Given the description of an element on the screen output the (x, y) to click on. 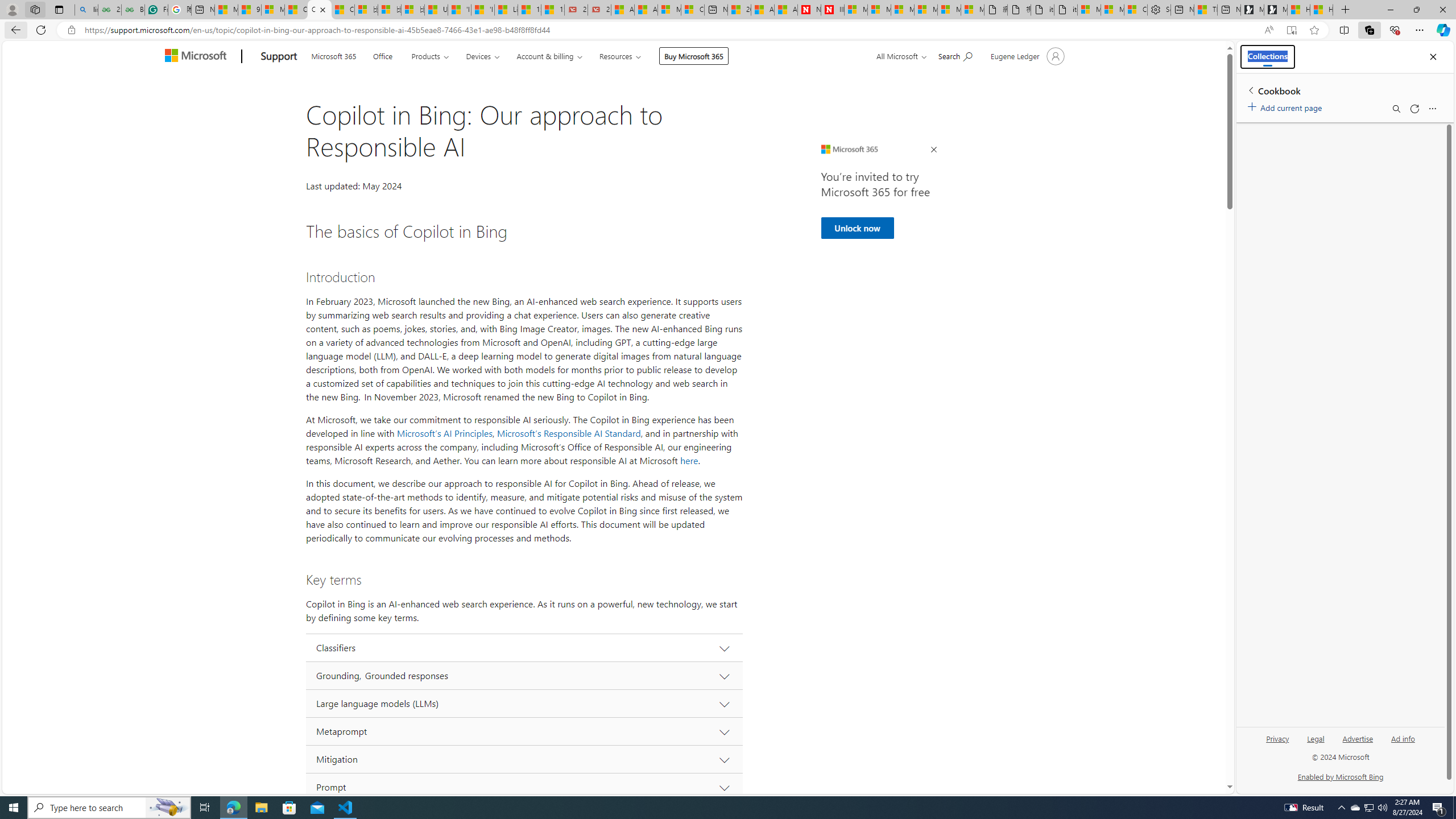
15 Ways Modern Life Contradicts the Teachings of Jesus (552, 9)
25 Basic Linux Commands For Beginners - GeeksforGeeks (109, 9)
How to Use a TV as a Computer Monitor (1321, 9)
Lifestyle - MSN (505, 9)
Account manager for Eugene Ledger (1025, 55)
itconcepthk.com/projector_solutions.mp4 (1065, 9)
